Given the description of an element on the screen output the (x, y) to click on. 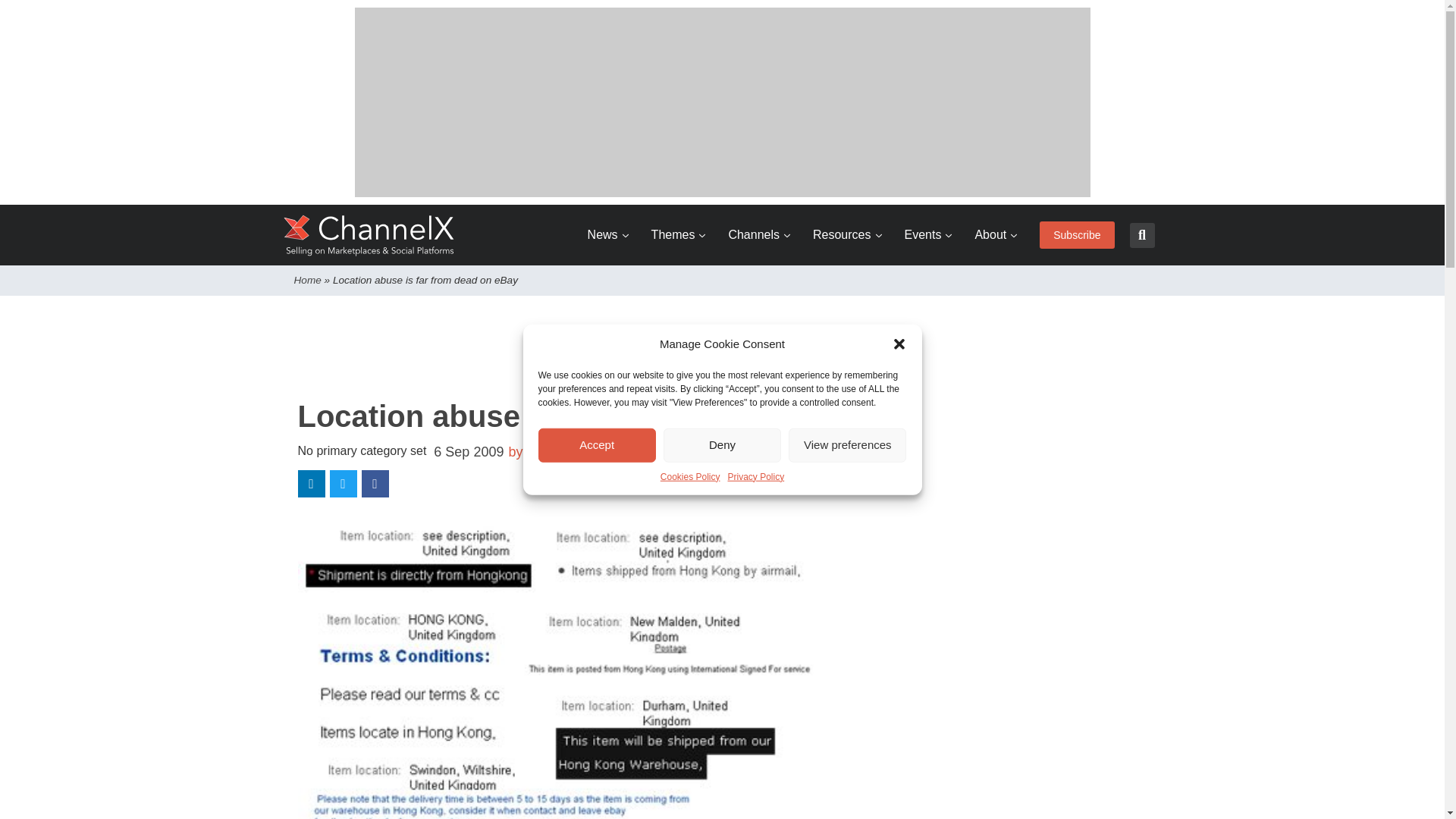
Accept (597, 444)
Themes (678, 234)
Deny (721, 444)
Privacy Policy (756, 476)
Channels (758, 234)
ChannelX Home Page (369, 234)
News (607, 234)
View preferences (847, 444)
Cookies Policy (690, 476)
